Given the description of an element on the screen output the (x, y) to click on. 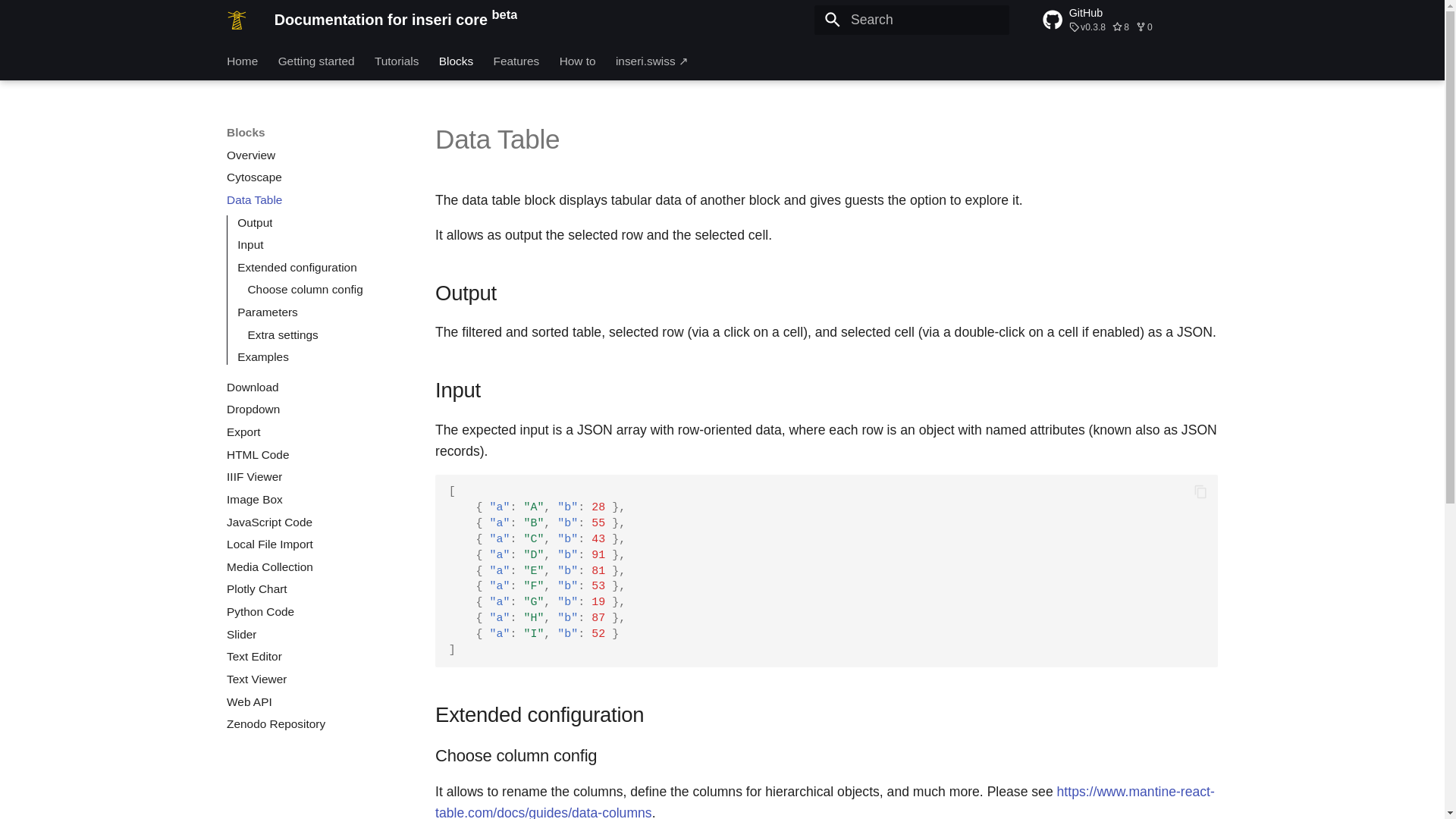
Extra settings (324, 335)
Home (242, 60)
Examples (319, 356)
Tutorials (396, 60)
Media Collection (314, 566)
Dropdown (314, 409)
Copy to clipboard (1201, 491)
Slider (314, 634)
Python Code (314, 611)
How to (577, 60)
